Given the description of an element on the screen output the (x, y) to click on. 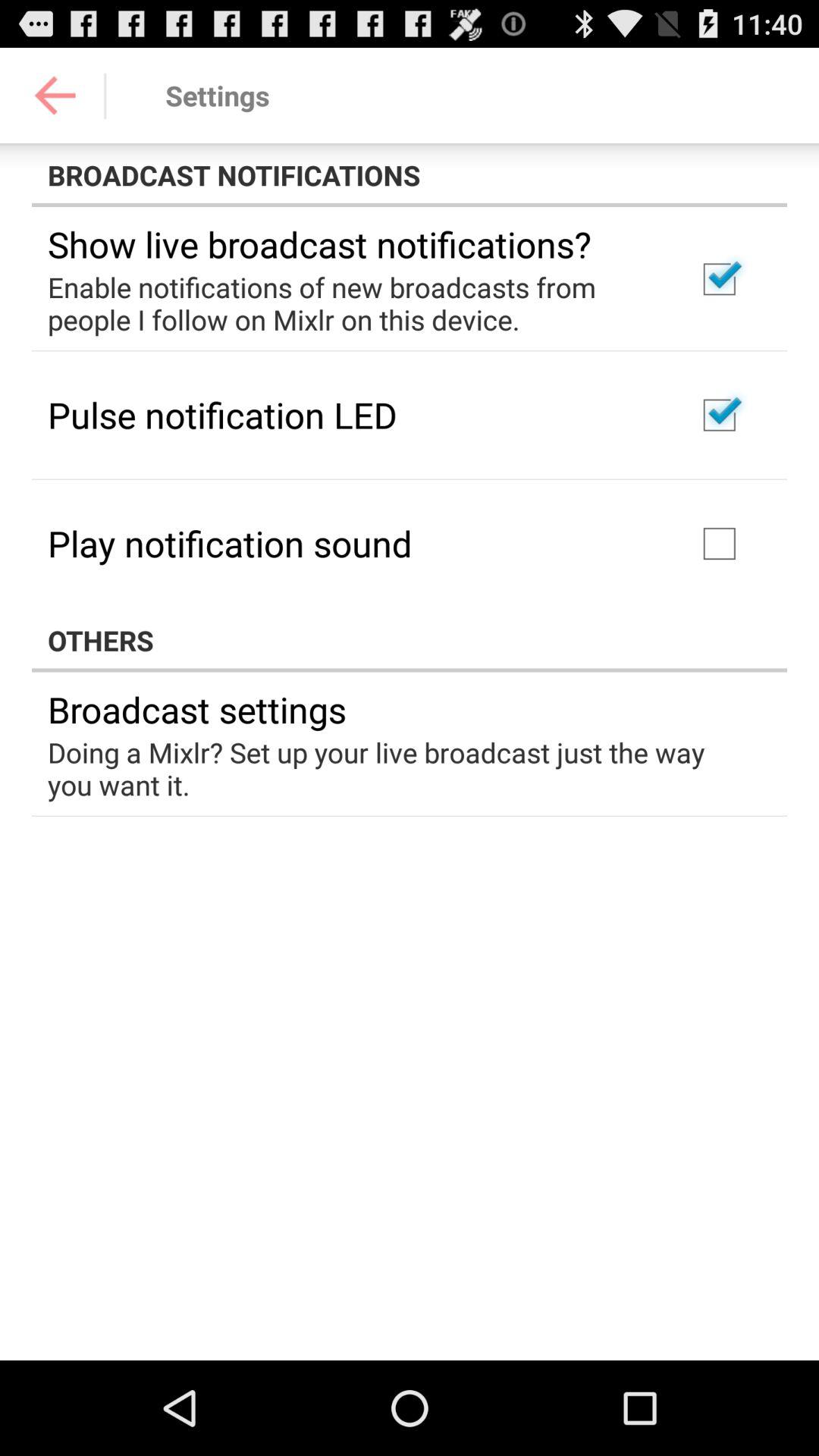
swipe to broadcast settings app (196, 709)
